Given the description of an element on the screen output the (x, y) to click on. 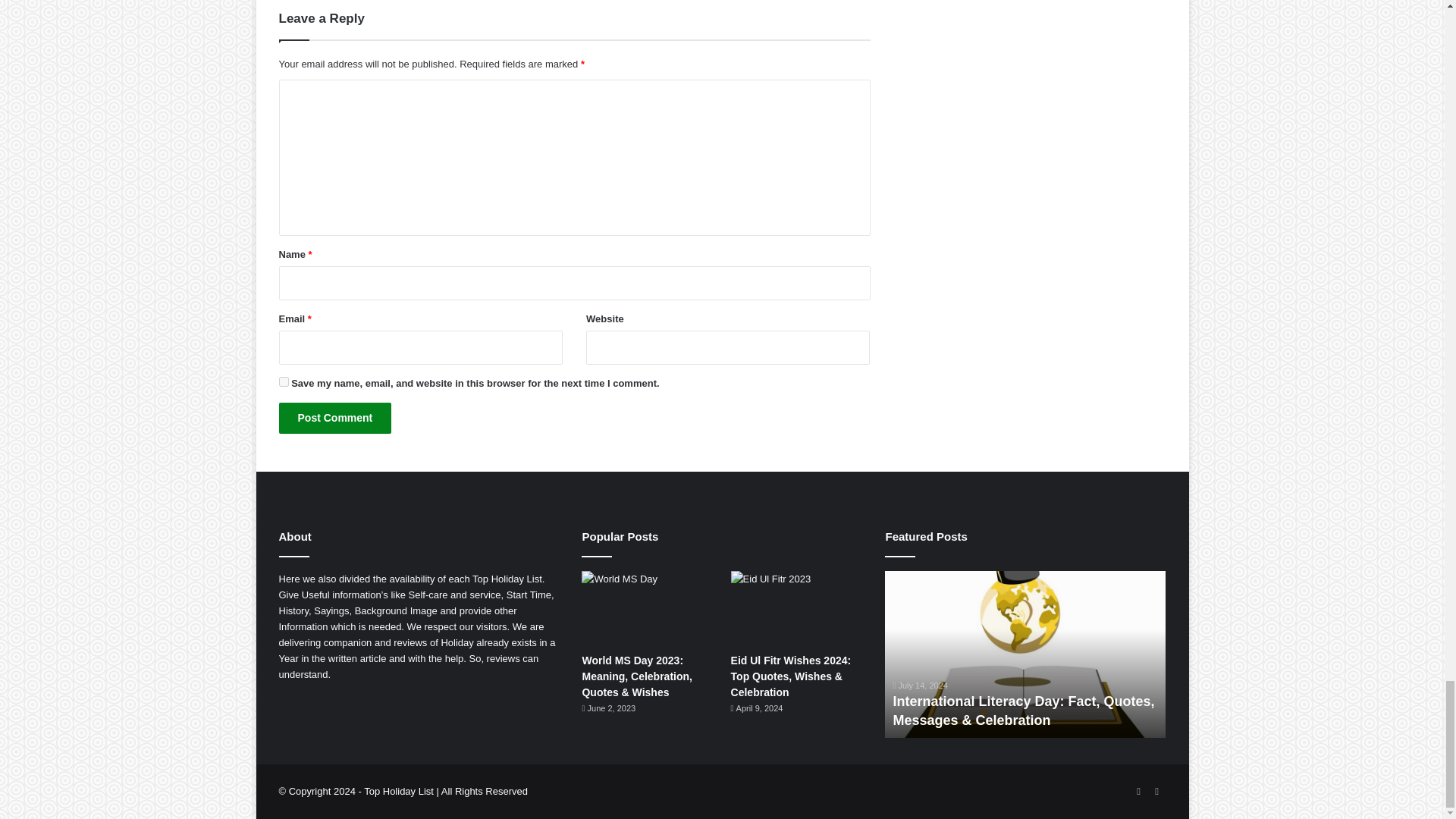
yes (283, 381)
Post Comment (335, 418)
